Given the description of an element on the screen output the (x, y) to click on. 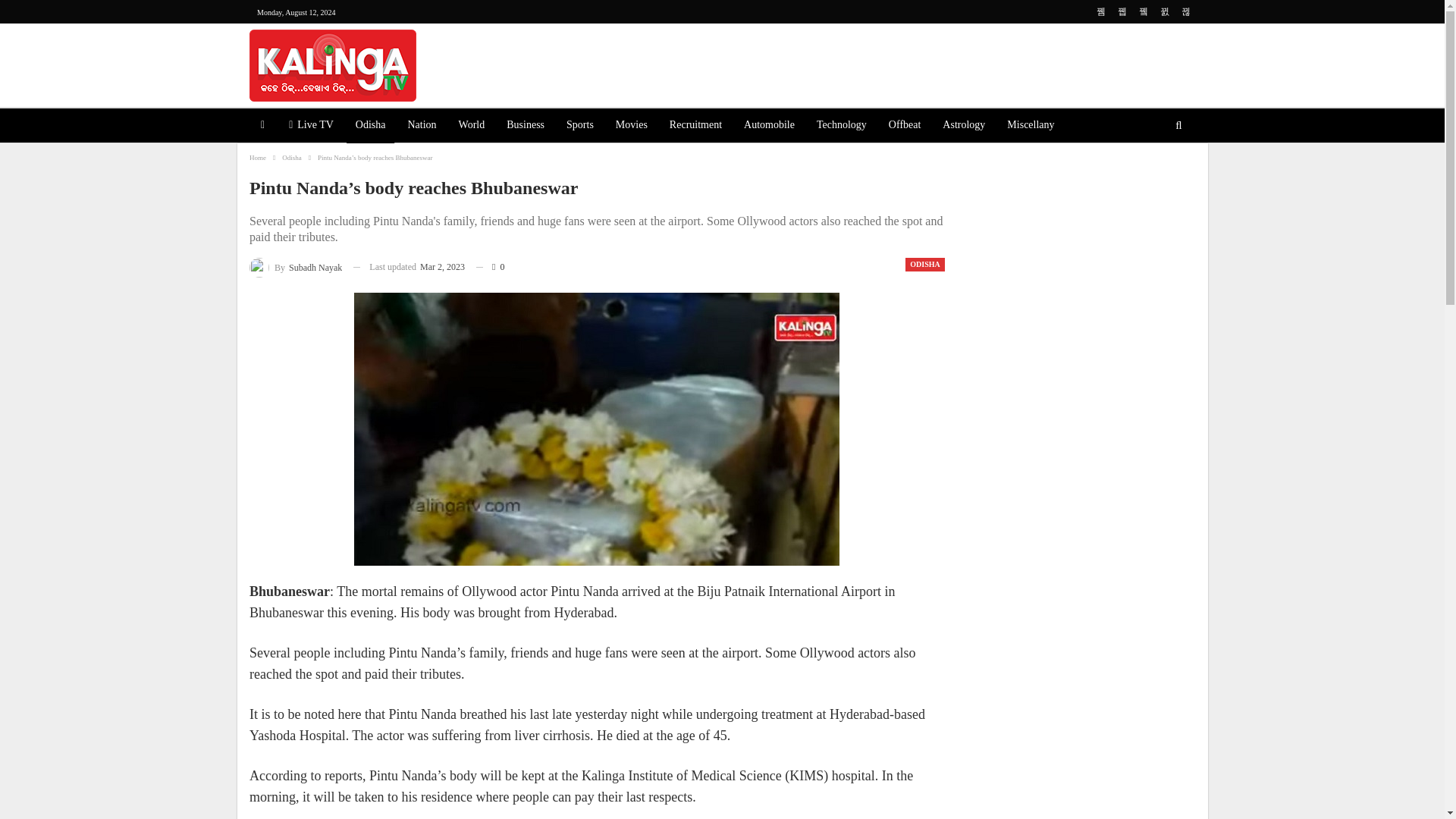
ODISHA (924, 264)
Business (525, 126)
Miscellany (1029, 126)
Sports (579, 126)
Home (257, 157)
Recruitment (695, 126)
Browse Author Articles (295, 267)
World (472, 126)
0 (489, 266)
Odisha (370, 126)
